Given the description of an element on the screen output the (x, y) to click on. 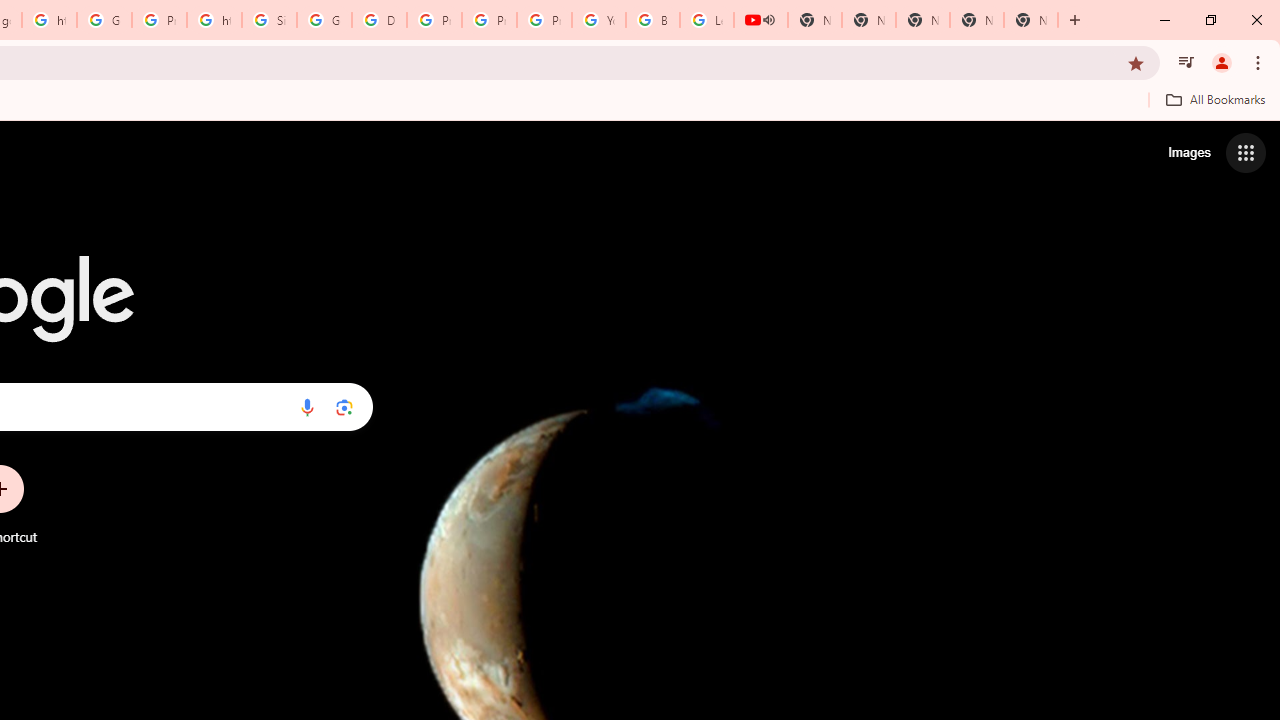
https://scholar.google.com/ (48, 20)
https://scholar.google.com/ (213, 20)
Search by image (344, 407)
Privacy Help Center - Policies Help (434, 20)
